Given the description of an element on the screen output the (x, y) to click on. 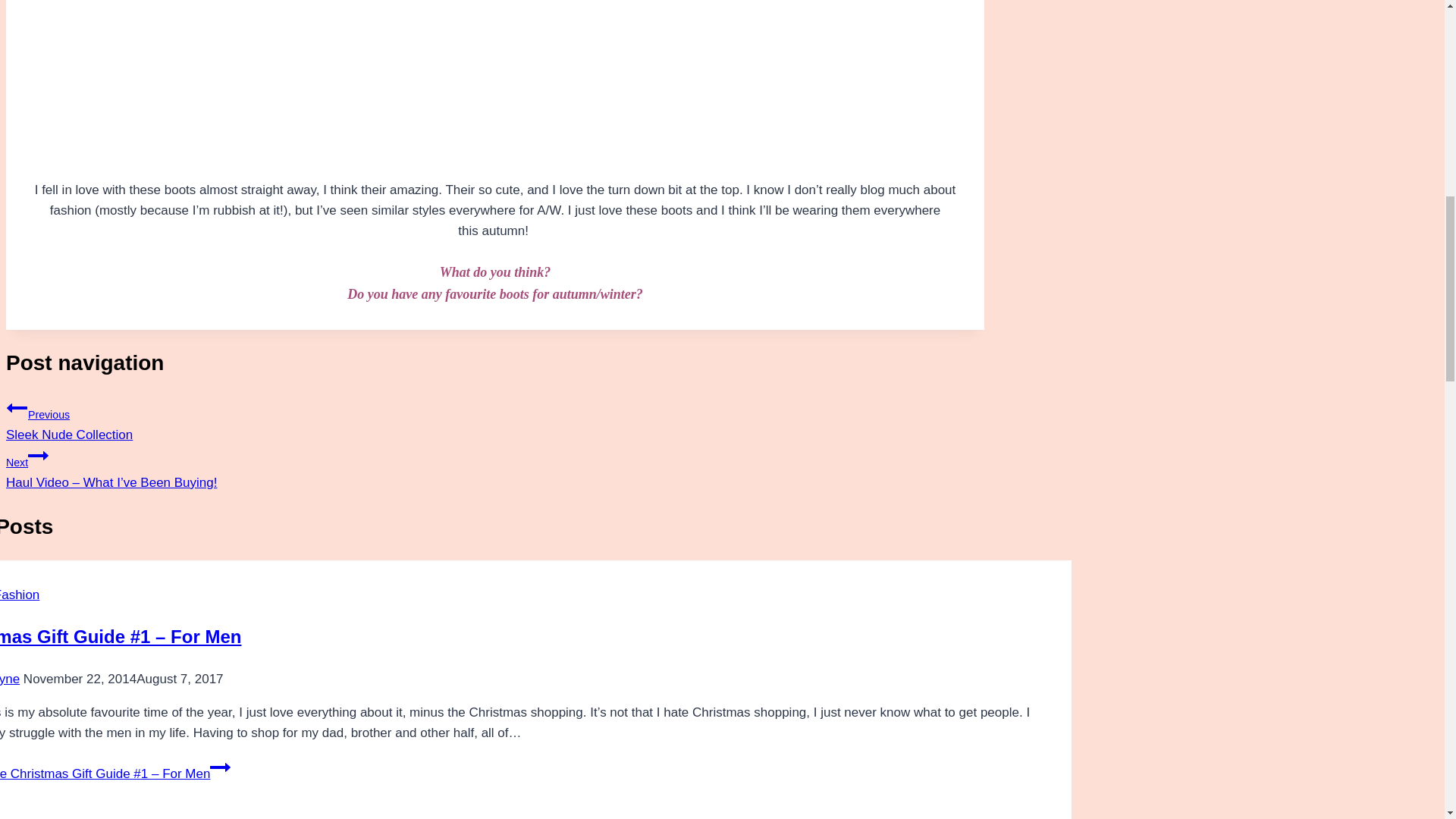
Fashion (19, 594)
Lisa Jayne (494, 419)
